Given the description of an element on the screen output the (x, y) to click on. 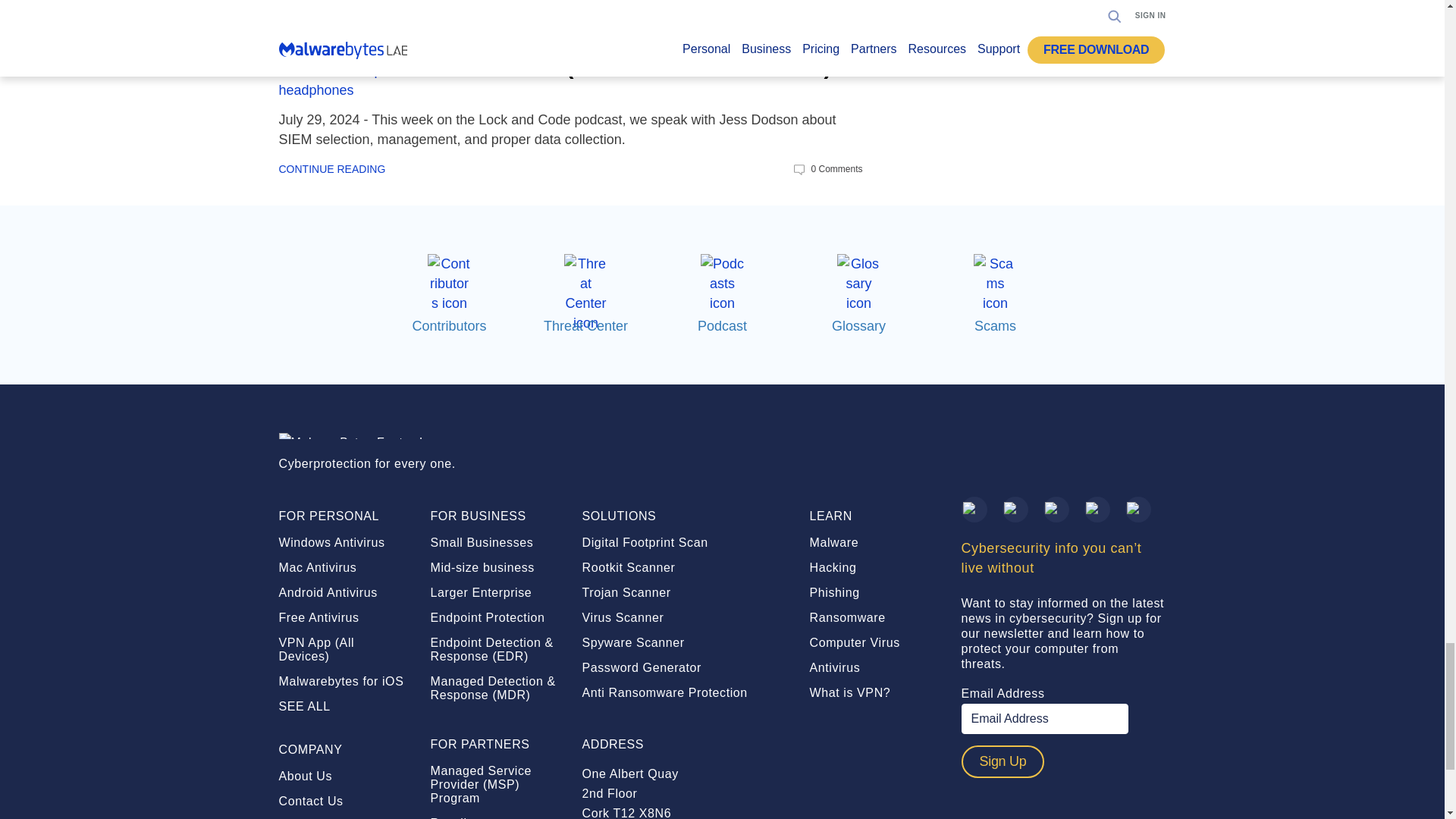
Sign Up (1002, 761)
